Given the description of an element on the screen output the (x, y) to click on. 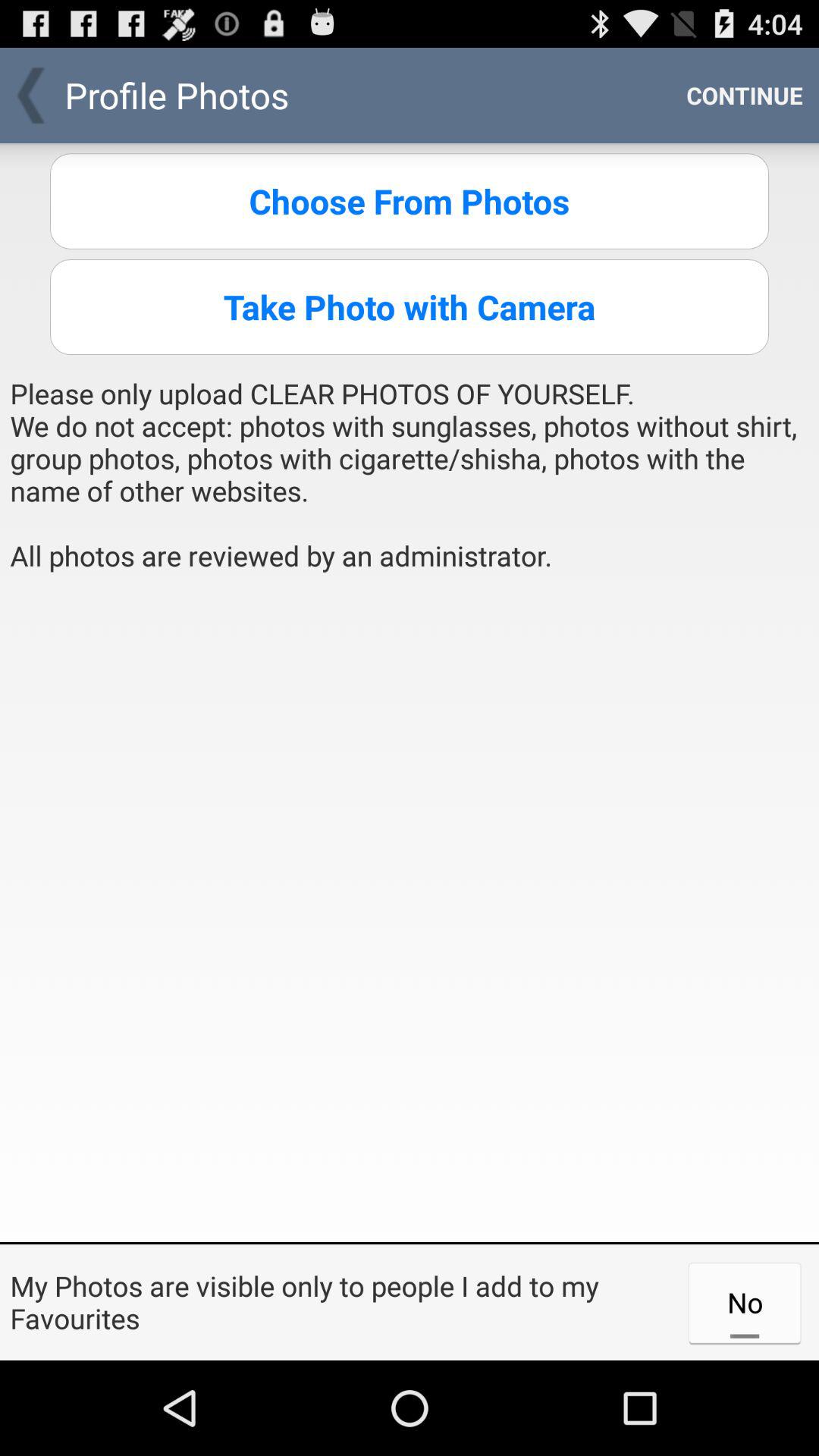
turn off the item to the right of the profile photos item (744, 95)
